Given the description of an element on the screen output the (x, y) to click on. 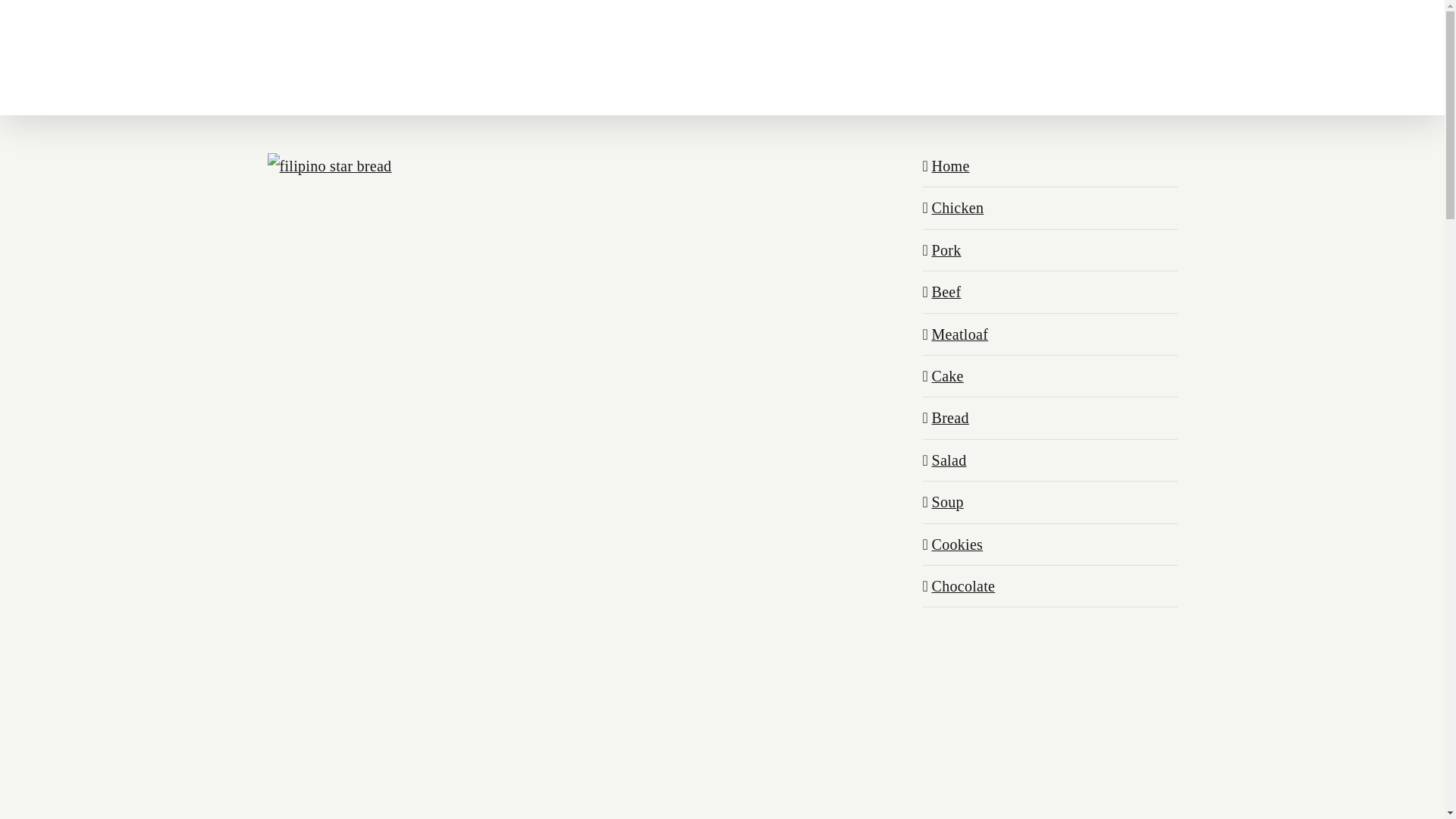
Chicken (957, 207)
Home (950, 166)
Beef (945, 291)
Meatloaf (959, 334)
Pork (945, 249)
